Given the description of an element on the screen output the (x, y) to click on. 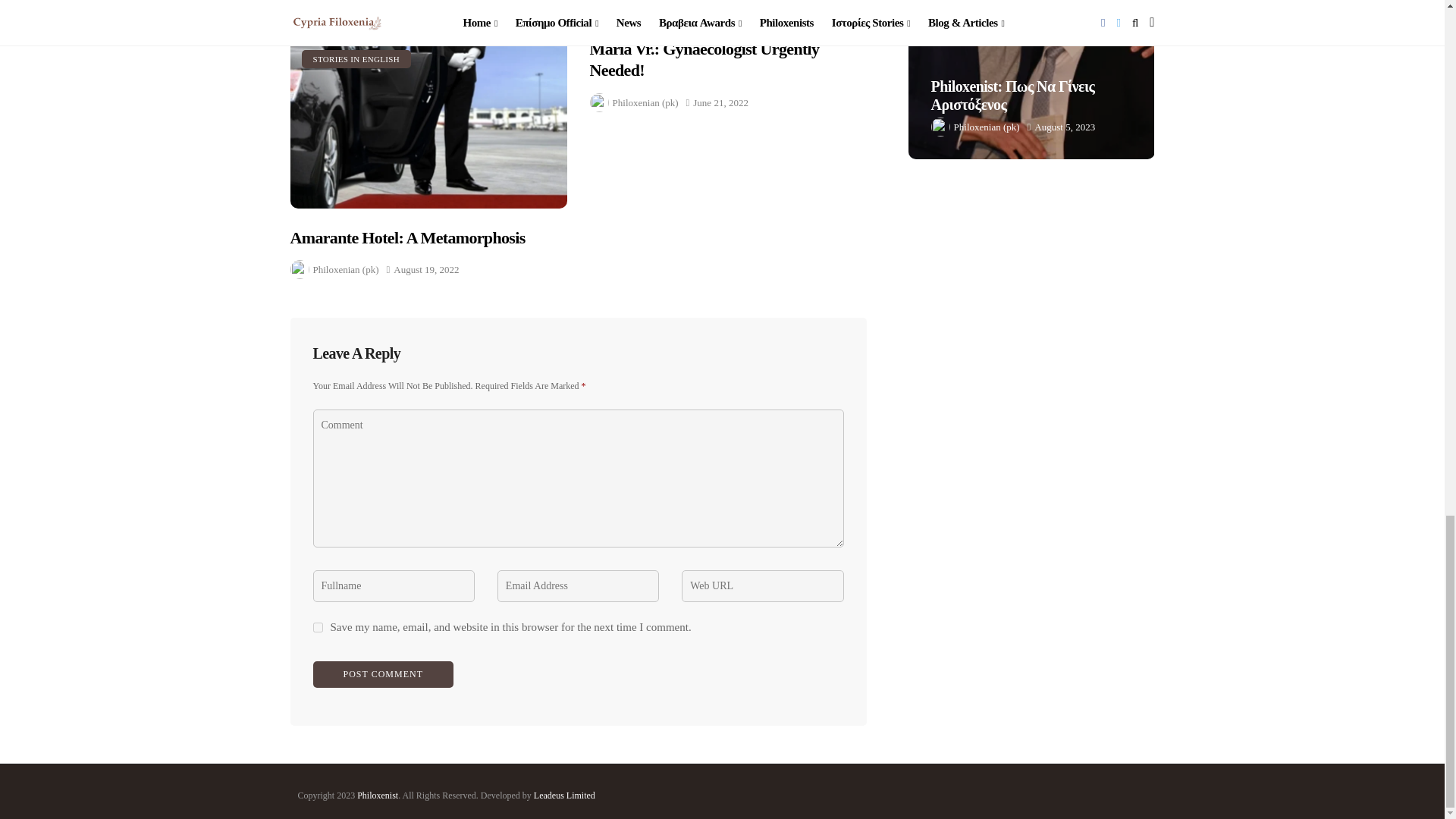
Post Comment (382, 673)
yes (317, 627)
Nikos Kasiouris: Philoxenist 2022 (785, 79)
Amarante Hotel: A metamorphosis (427, 123)
